Given the description of an element on the screen output the (x, y) to click on. 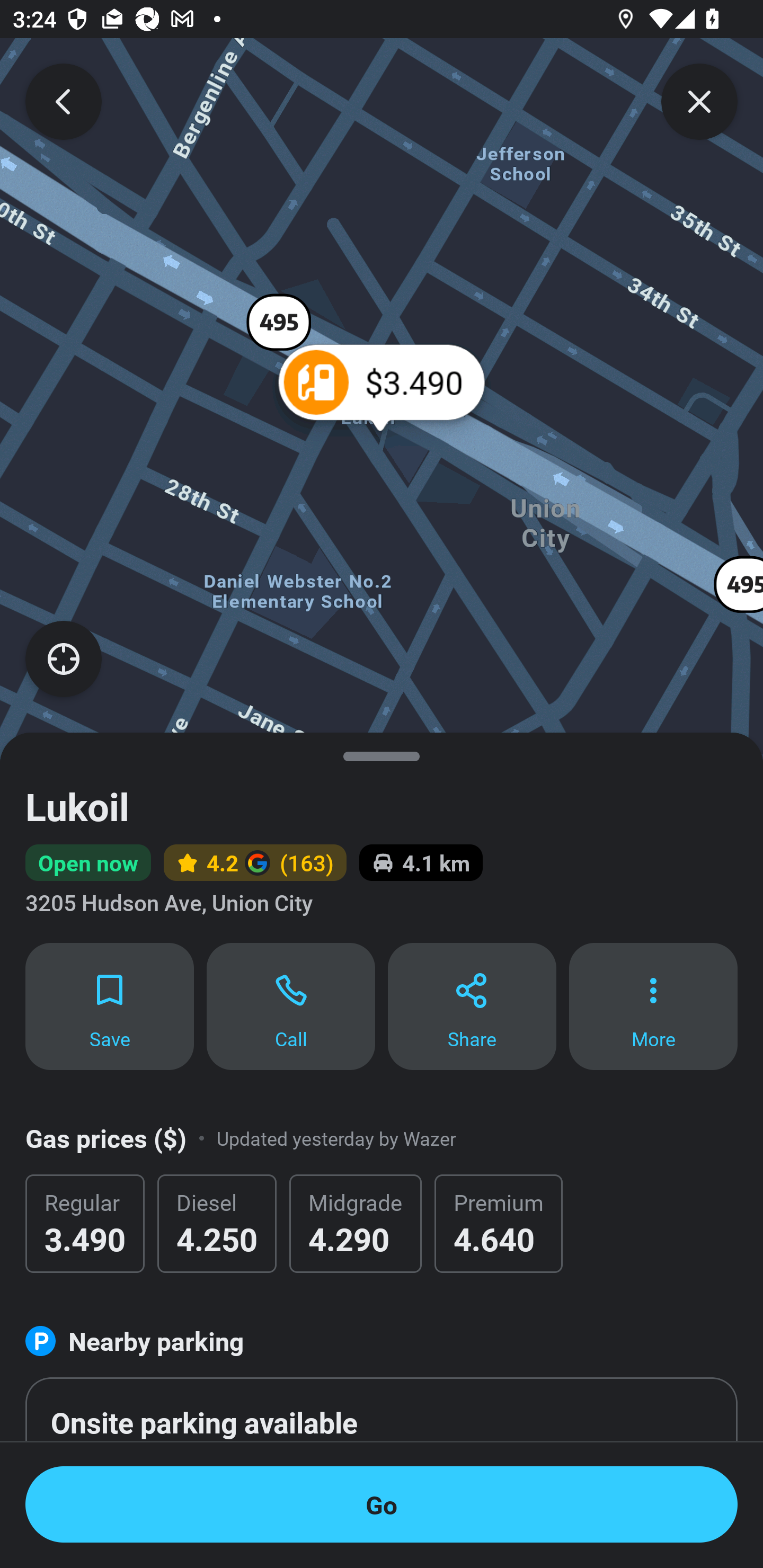
Save (109, 1005)
Call (290, 1005)
Share (471, 1005)
More (653, 1005)
Go (381, 1504)
